Given the description of an element on the screen output the (x, y) to click on. 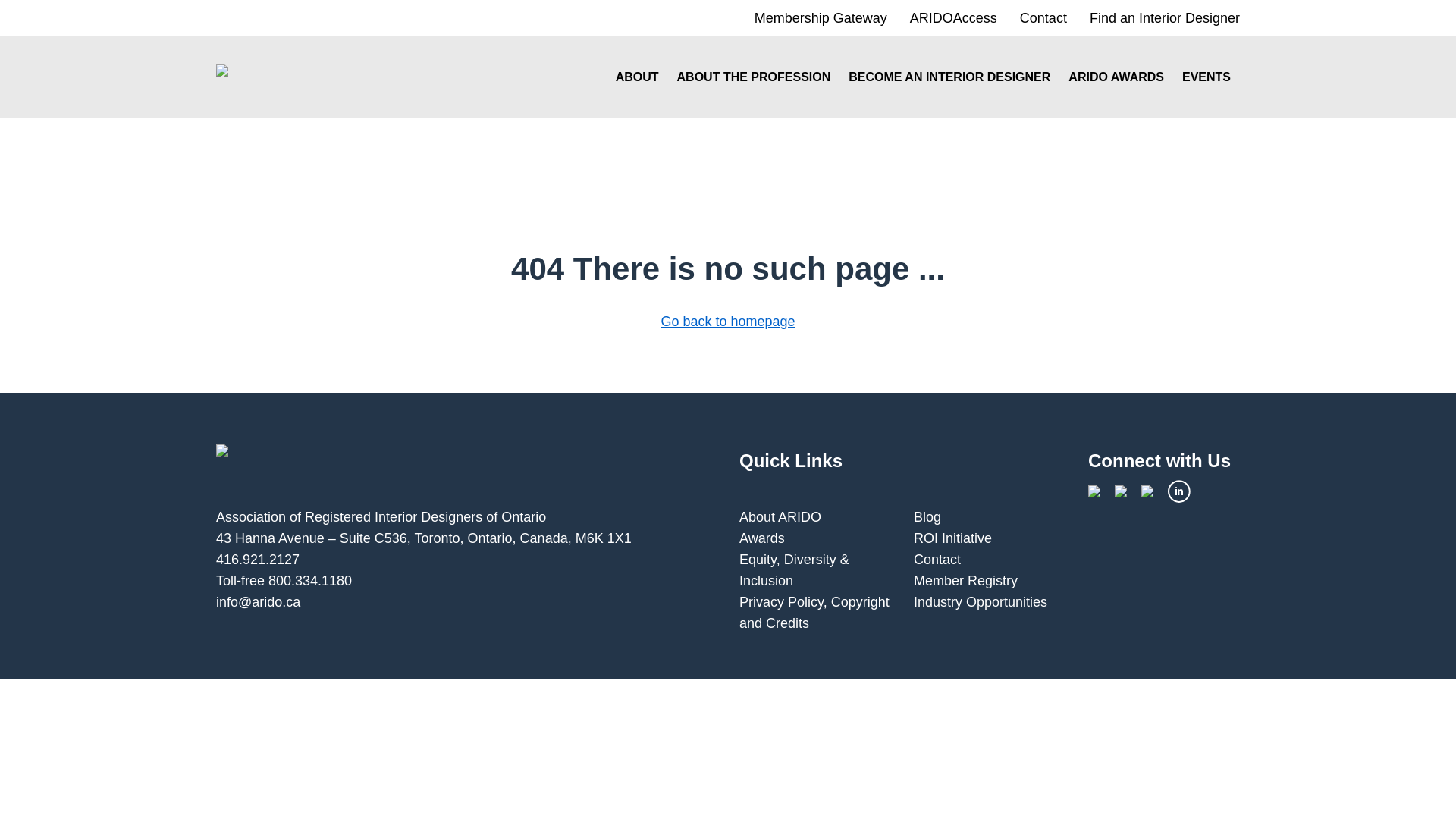
ABOUT THE PROFESSION Element type: text (754, 77)
info@arido.ca Element type: text (258, 601)
Member Registry Element type: text (965, 580)
Contact Element type: text (1042, 17)
Blog Element type: text (927, 516)
Industry Opportunities Element type: text (980, 601)
Find an Interior Designer Element type: text (1164, 17)
Contact Element type: text (936, 559)
Privacy Policy, Copyright and Credits Element type: text (814, 612)
Awards Element type: text (761, 538)
Go back to homepage Element type: text (727, 321)
Equity, Diversity & Inclusion Element type: text (794, 570)
ARIDOAccess Element type: text (953, 17)
ABOUT Element type: text (637, 77)
Membership Gateway Element type: text (820, 17)
BECOME AN INTERIOR DESIGNER Element type: text (949, 77)
EVENTS Element type: text (1206, 77)
ARIDO AWARDS Element type: text (1116, 77)
ROI Initiative Element type: text (952, 538)
About ARIDO Element type: text (780, 516)
